Given the description of an element on the screen output the (x, y) to click on. 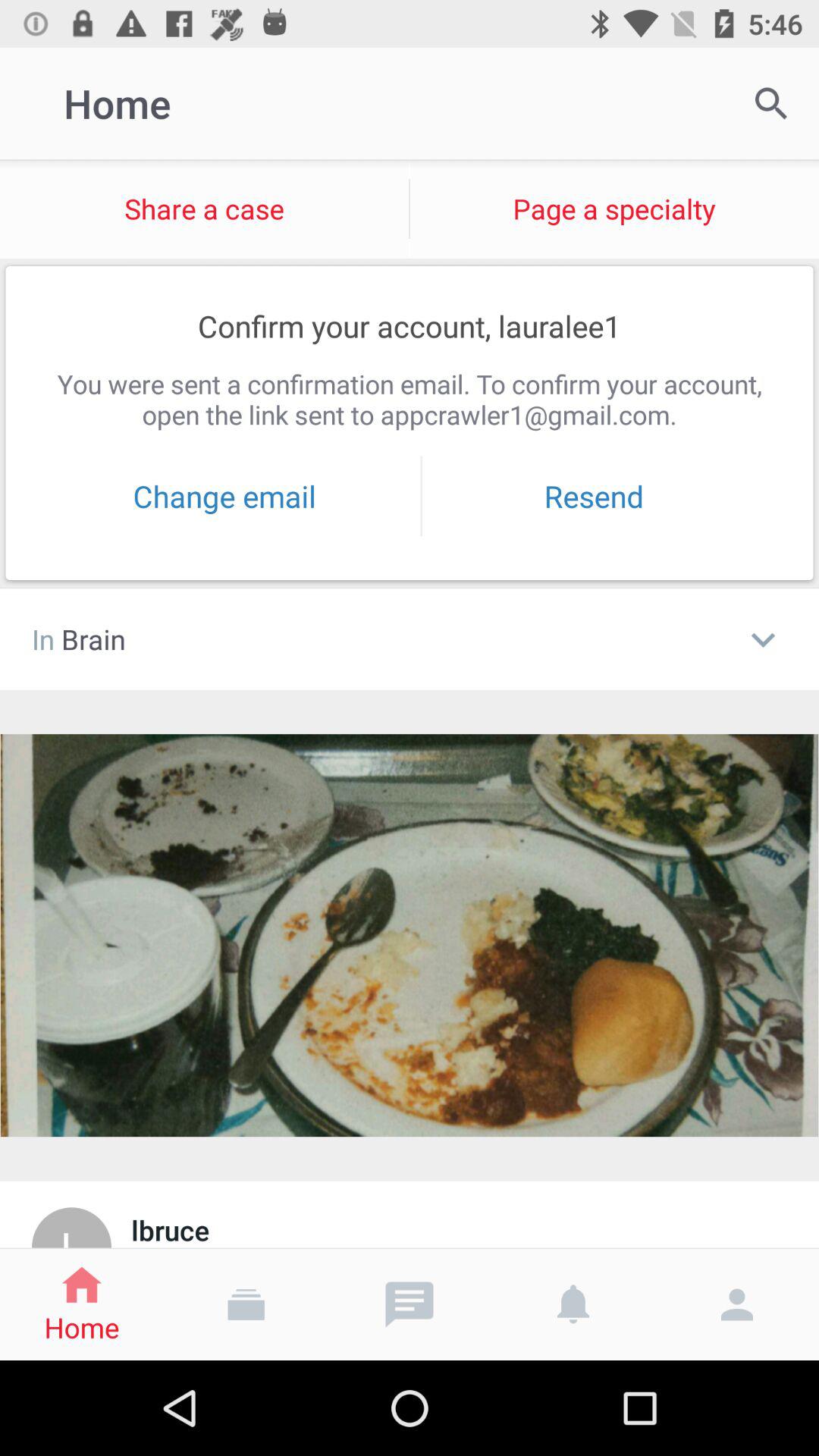
tap item below resend icon (763, 639)
